Given the description of an element on the screen output the (x, y) to click on. 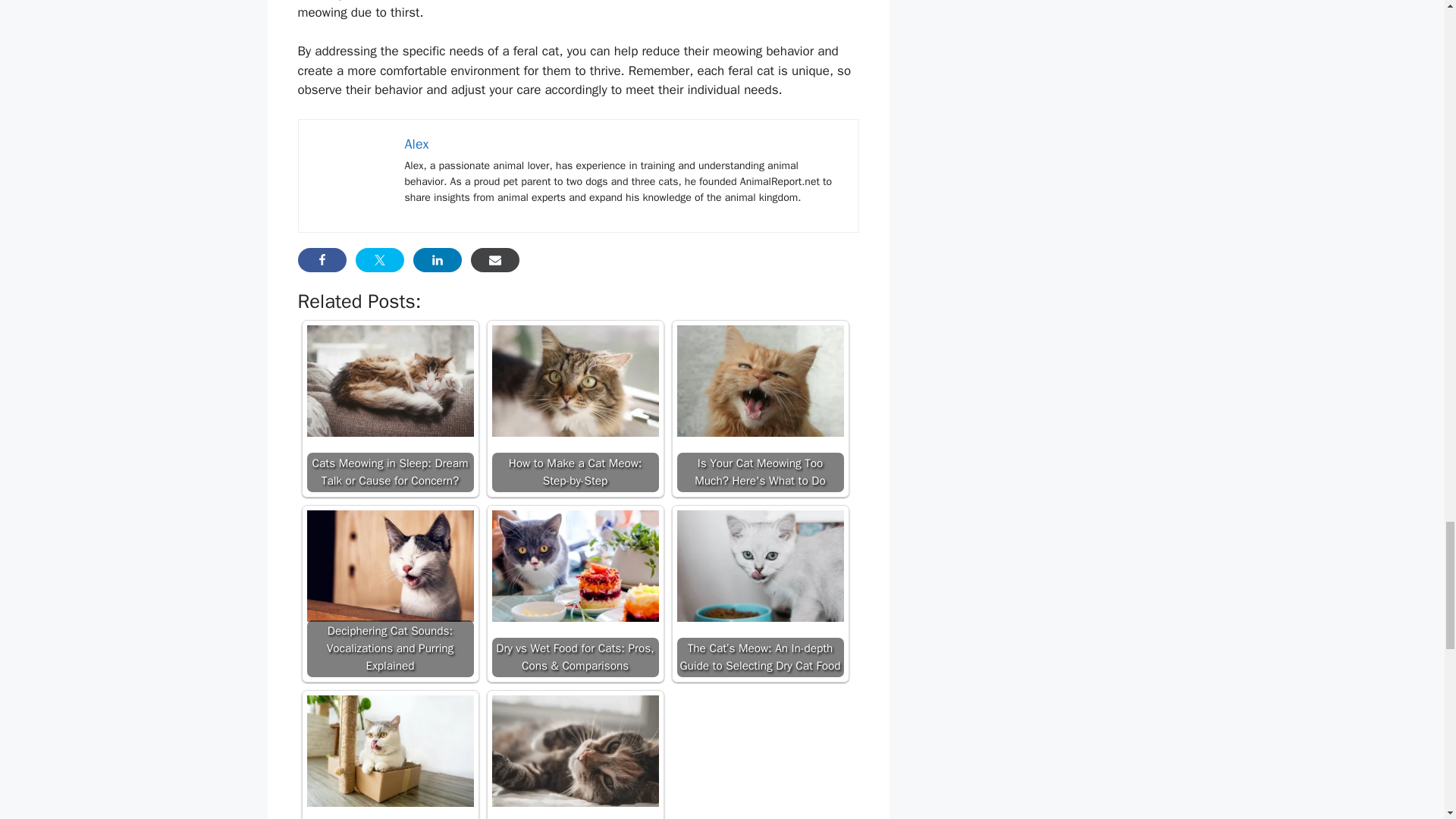
Share via Email (494, 259)
Share on Twitter (379, 259)
Is Your Cat Meowing Too Much? Here's What to Do (760, 380)
Alex (416, 143)
Cats Meowing in Sleep: Dream Talk or Cause for Concern? (389, 380)
Share on LinkedIn (436, 259)
Share on Facebook (321, 259)
How to Make a Cat Meow: Step-by-Step (575, 380)
Deciphering Cat Sounds: Vocalizations and Purring Explained (389, 565)
